Given the description of an element on the screen output the (x, y) to click on. 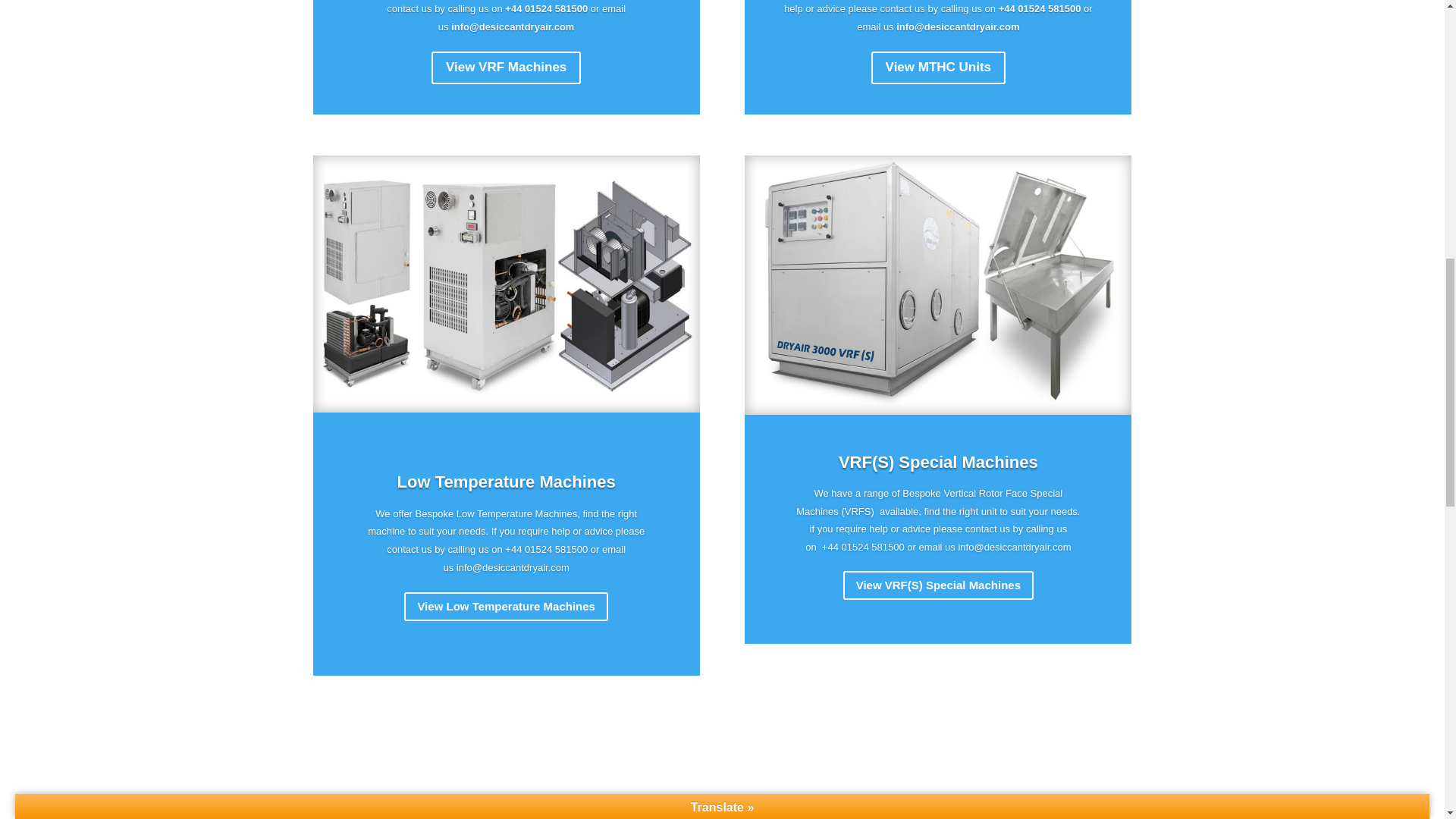
View Low Temperature Machines (506, 632)
low temp (505, 283)
View MTHC Units (938, 67)
View VRF Machines (505, 67)
